Given the description of an element on the screen output the (x, y) to click on. 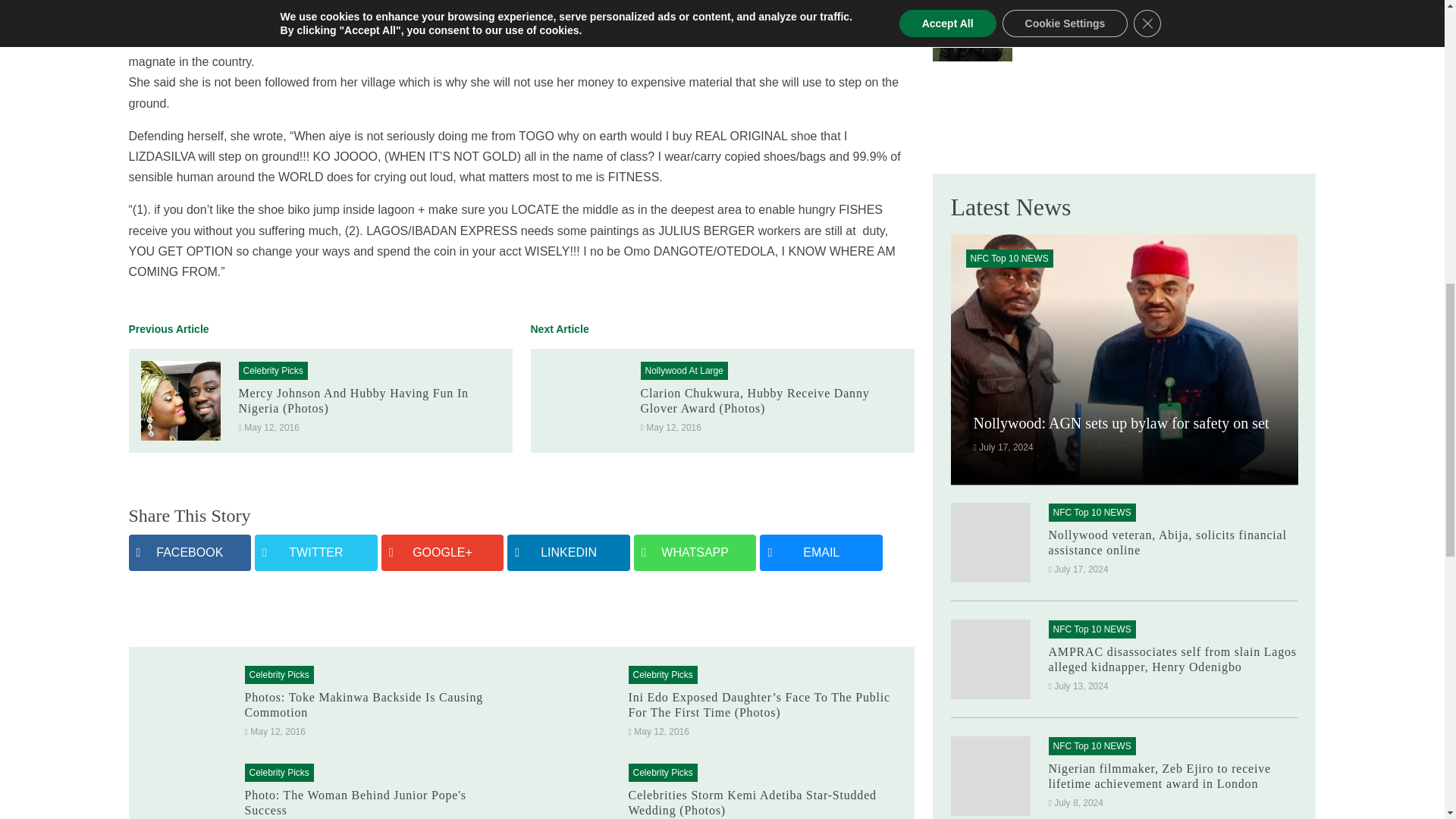
Nollywood At Large (683, 370)
Celebrity Picks (272, 370)
twitter (315, 552)
Celebrity Picks (272, 370)
TWITTER (315, 552)
FACEBOOK (190, 552)
Nollywood At Large (683, 370)
facebook (190, 552)
